Given the description of an element on the screen output the (x, y) to click on. 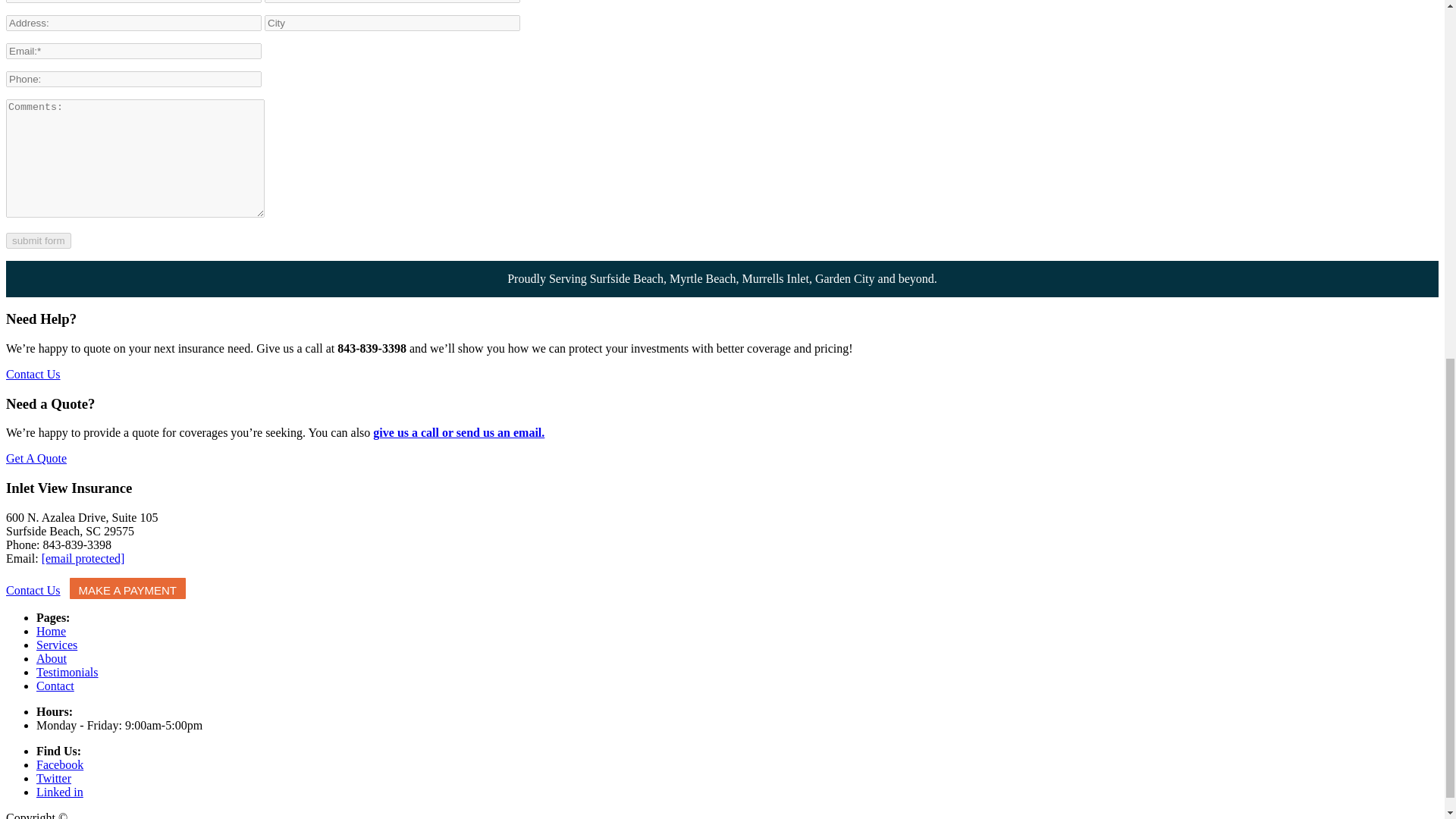
Facebook (59, 764)
Services (56, 644)
Contact (55, 685)
MAKE A PAYMENT (127, 588)
give us a call or send us an email. (458, 431)
Contact Us (33, 590)
Twitter (53, 778)
Get A Quote (35, 458)
Testimonials (67, 671)
submit form (38, 240)
Linked in (59, 791)
Home (50, 631)
Contact Us (33, 373)
submit form (38, 240)
About (51, 658)
